Given the description of an element on the screen output the (x, y) to click on. 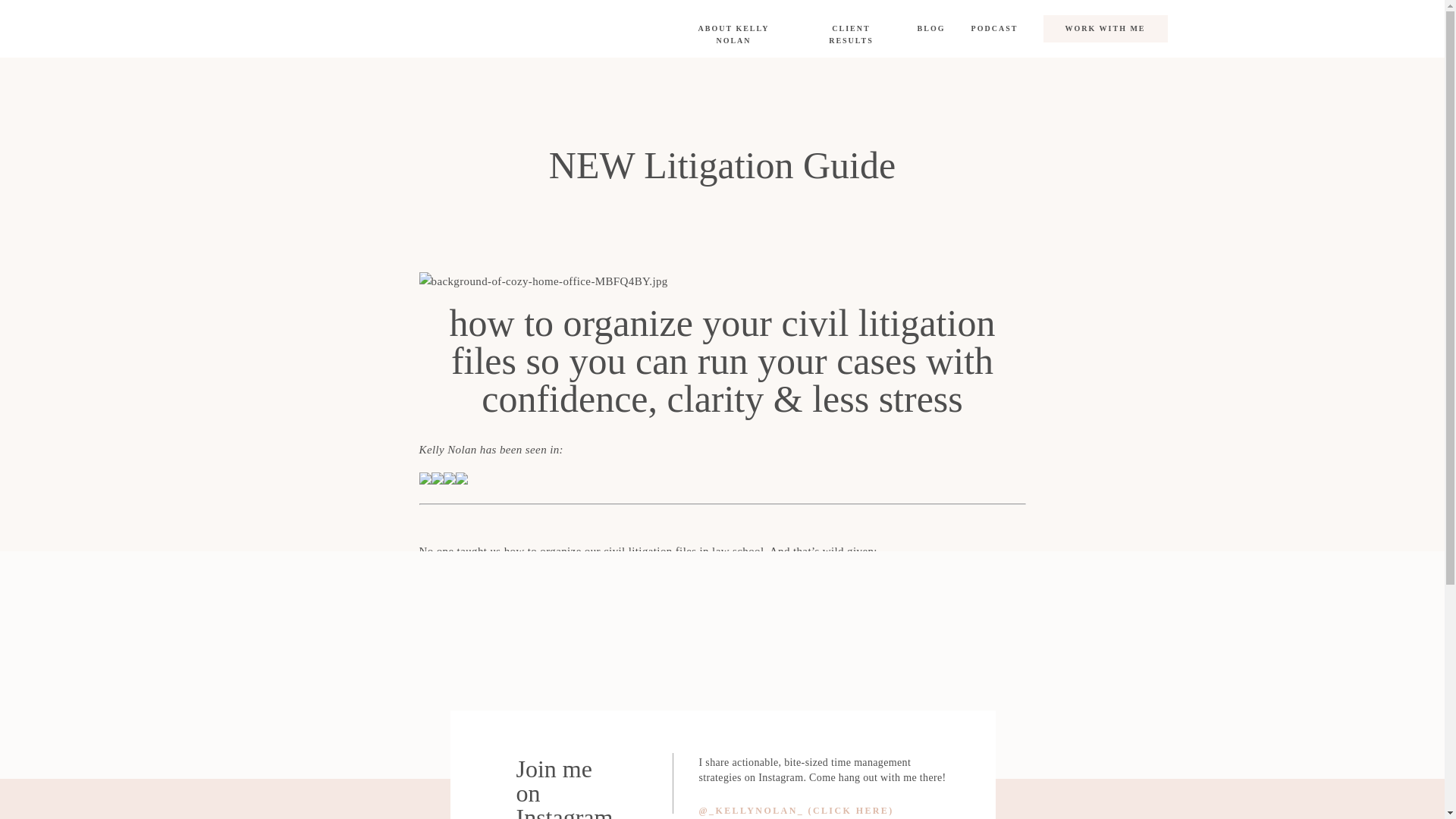
BLOG (931, 29)
ABOUT KELLY NOLAN (734, 28)
WORK WITH ME (1105, 28)
CLIENT RESULTS (850, 29)
PODCAST (994, 29)
Join me on Instagram (567, 778)
